Given the description of an element on the screen output the (x, y) to click on. 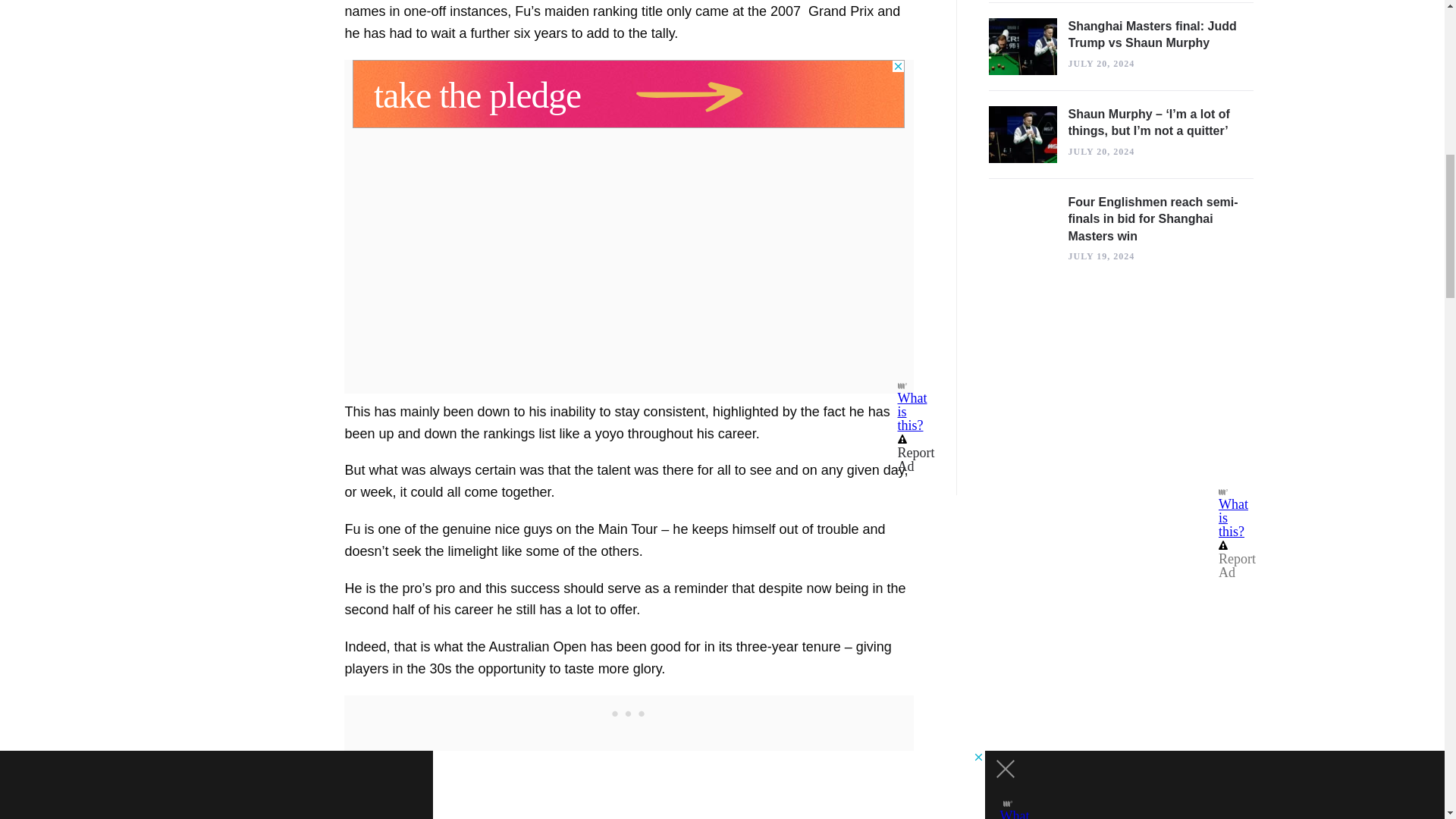
3rd party ad content (628, 93)
3rd party ad content (627, 714)
